Given the description of an element on the screen output the (x, y) to click on. 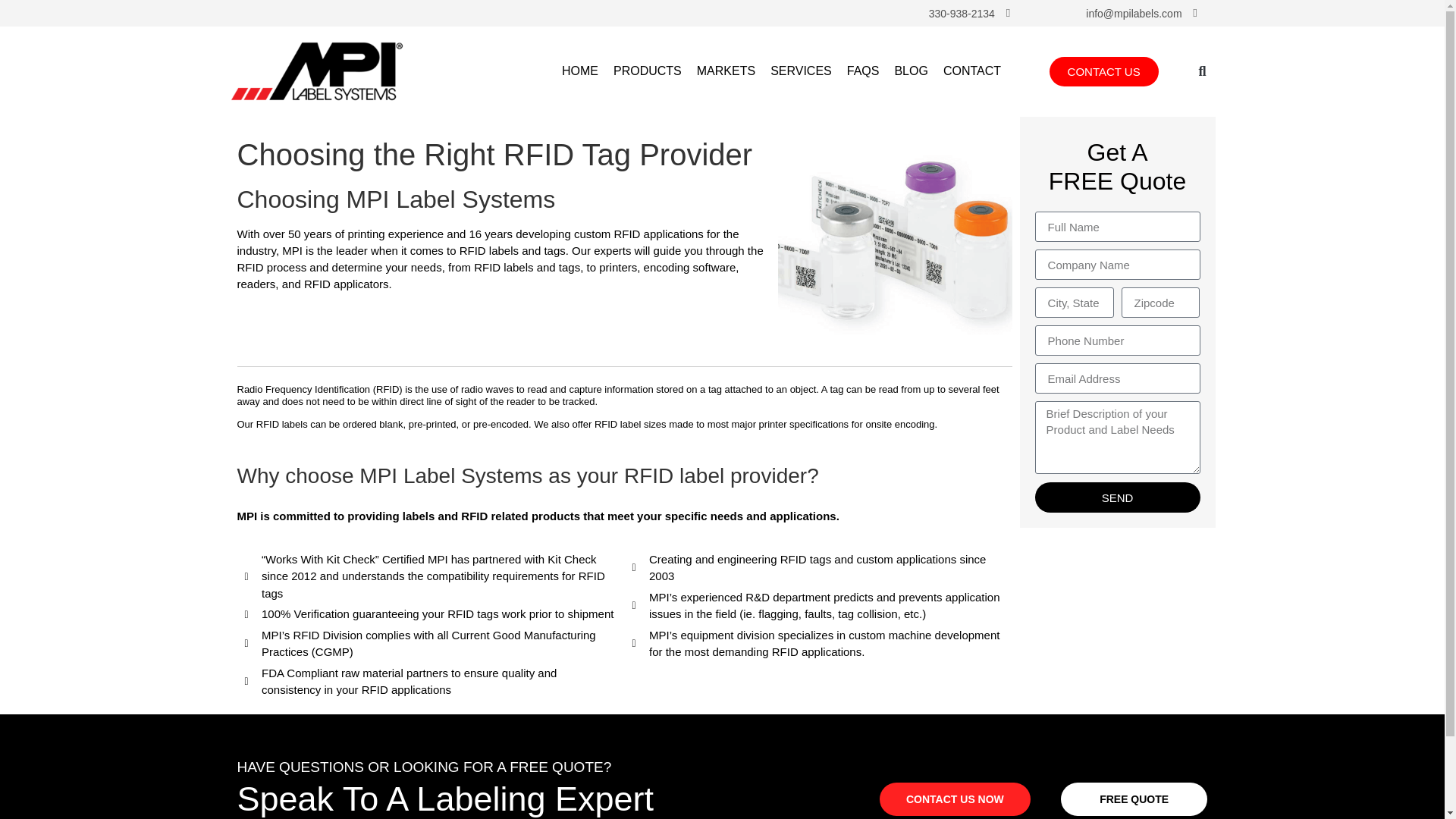
BLOG (910, 71)
HOME (580, 71)
PRODUCTS (646, 71)
330-938-2134 (961, 13)
CONTACT (972, 71)
FAQS (863, 71)
MARKETS (726, 71)
SERVICES (800, 71)
